Given the description of an element on the screen output the (x, y) to click on. 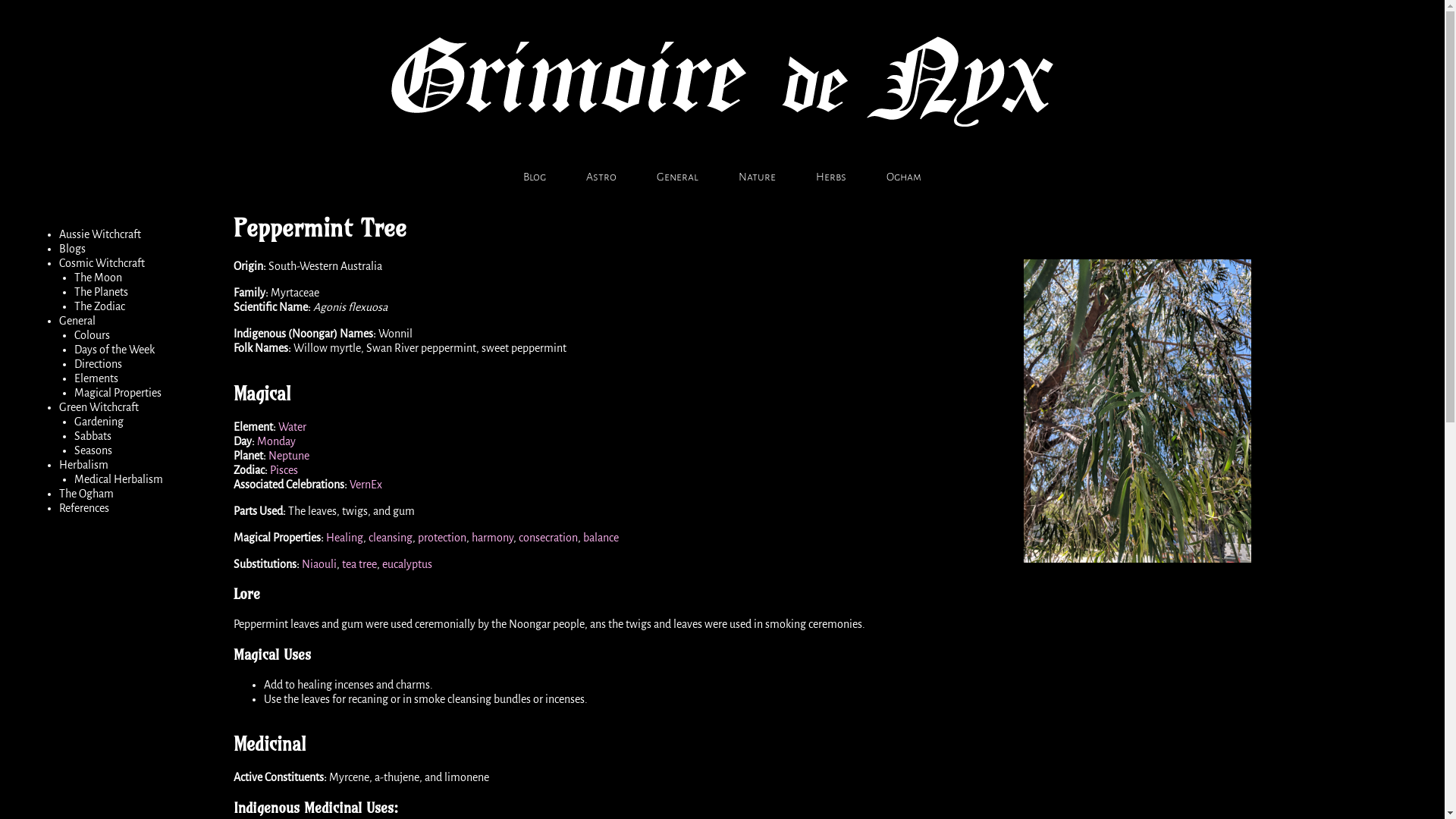
Cosmic Witchcraft Element type: text (101, 263)
cleansing Element type: text (390, 537)
Days of the Week Element type: text (114, 349)
Nature Element type: text (756, 176)
VernEx Element type: text (365, 484)
Herbs Element type: text (830, 176)
eucalyptus Element type: text (407, 564)
Blog Element type: text (534, 176)
Neptune Element type: text (288, 455)
consecration Element type: text (547, 537)
Blogs Element type: text (72, 248)
The Ogham Element type: text (86, 493)
The Zodiac Element type: text (99, 306)
Gardening Element type: text (98, 421)
Medical Herbalism Element type: text (118, 479)
harmony Element type: text (492, 537)
Grimoire de Nyx Element type: hover (721, 153)
Magical Properties Element type: text (117, 392)
Directions Element type: text (98, 363)
The Planets Element type: text (101, 291)
Colours Element type: text (91, 335)
Monday Element type: text (276, 441)
Pisces Element type: text (283, 470)
Water Element type: text (292, 426)
The Moon Element type: text (98, 277)
Seasons Element type: text (93, 450)
Green Witchcraft Element type: text (98, 407)
Herbalism Element type: text (83, 464)
Astro Element type: text (601, 176)
Ogham Element type: text (903, 176)
Healing Element type: text (344, 537)
Aussie Witchcraft Element type: text (100, 234)
protection Element type: text (441, 537)
balance Element type: text (600, 537)
Niaouli Element type: text (318, 564)
tea tree Element type: text (359, 564)
Elements Element type: text (96, 378)
General Element type: text (77, 320)
Sabbats Element type: text (92, 435)
General Element type: text (677, 176)
References Element type: text (84, 508)
